Given the description of an element on the screen output the (x, y) to click on. 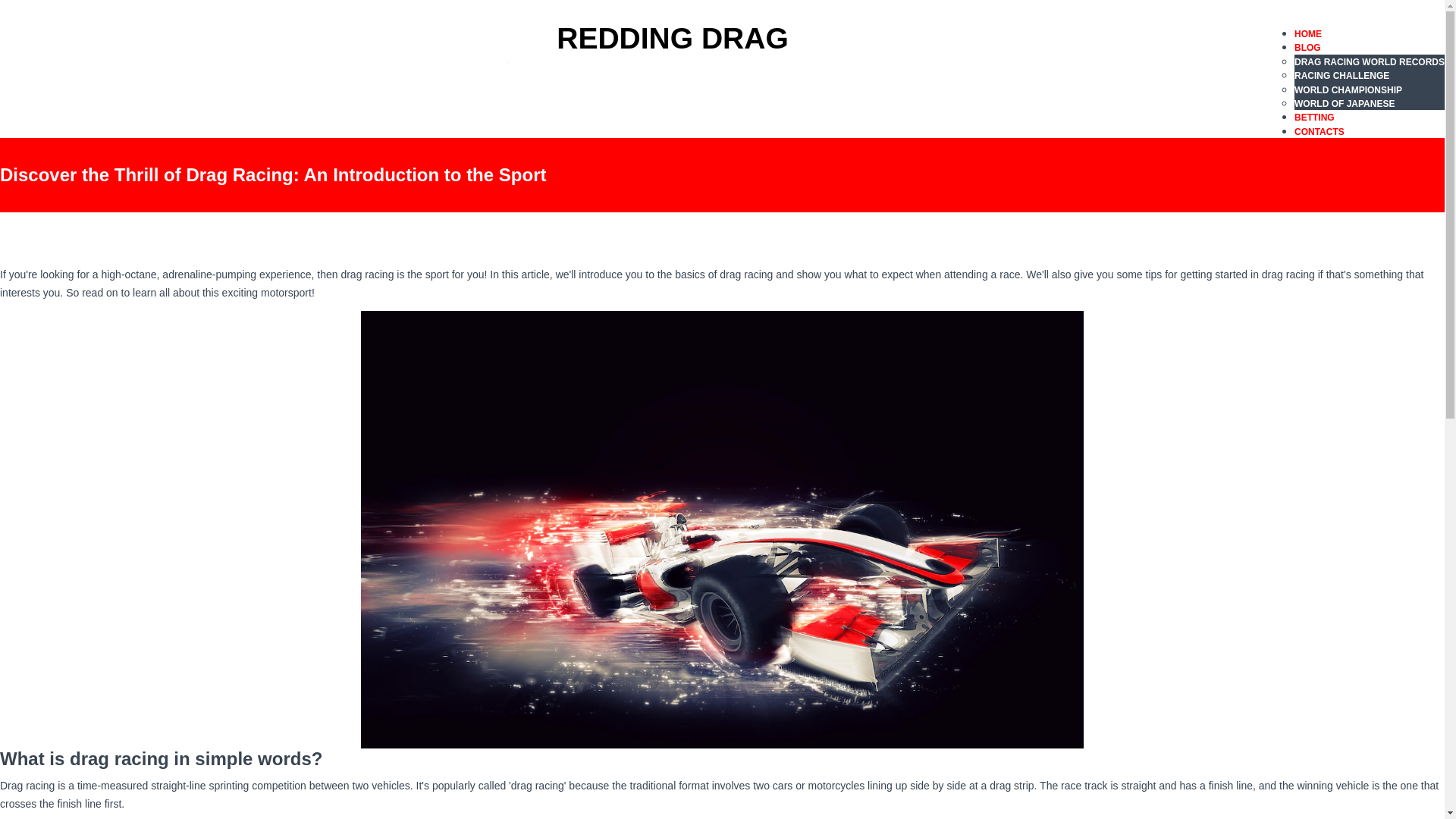
Home (647, 38)
RACING CHALLENGE (1341, 75)
WORLD CHAMPIONSHIP (1348, 90)
HOME (1308, 33)
BETTING (1314, 117)
CONTACTS (1318, 131)
WORLD OF JAPANESE (1344, 103)
BLOG (1307, 47)
REDDING DRAG (647, 38)
